Given the description of an element on the screen output the (x, y) to click on. 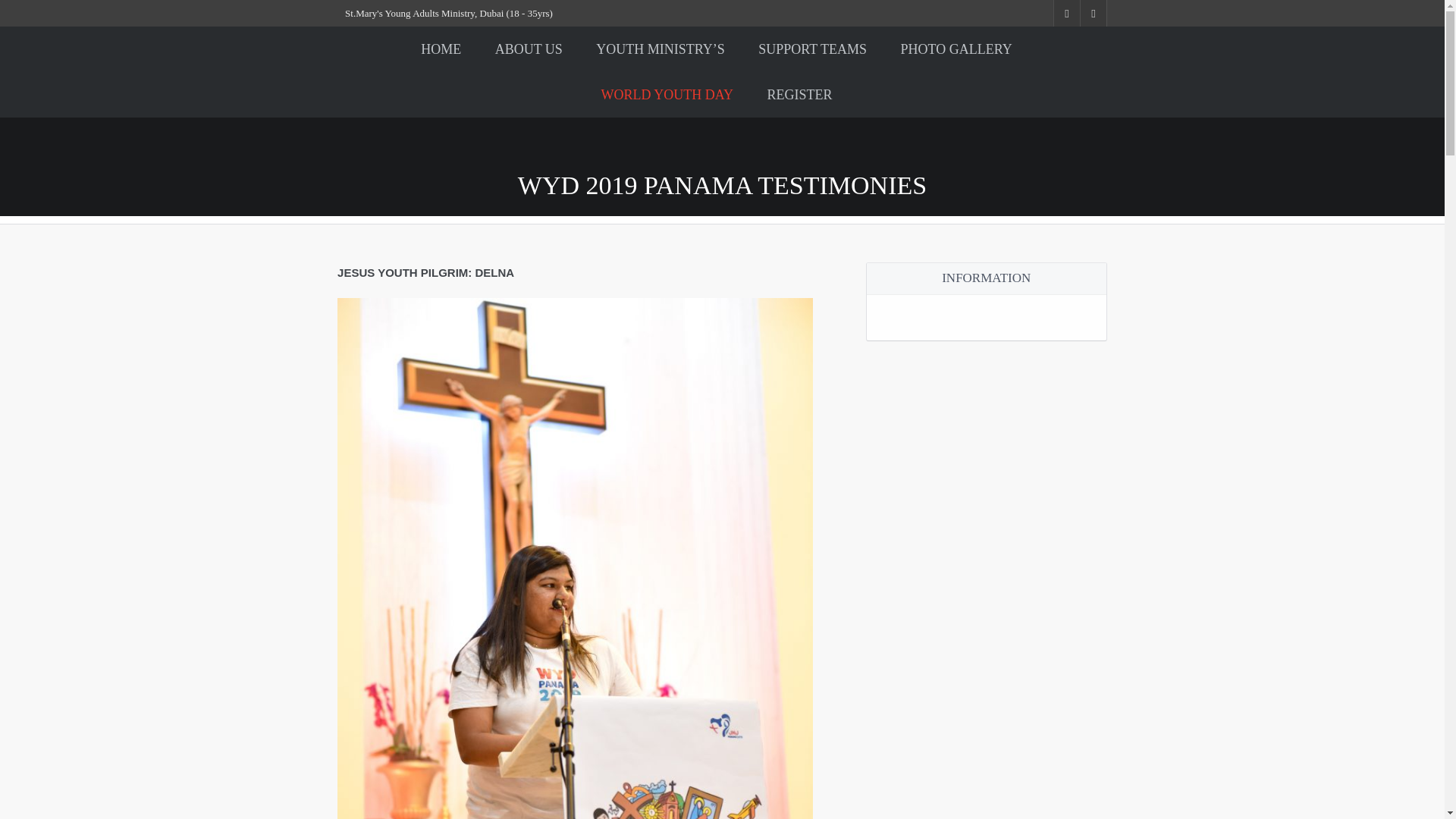
HOME (441, 49)
ABOUT US (529, 49)
